Given the description of an element on the screen output the (x, y) to click on. 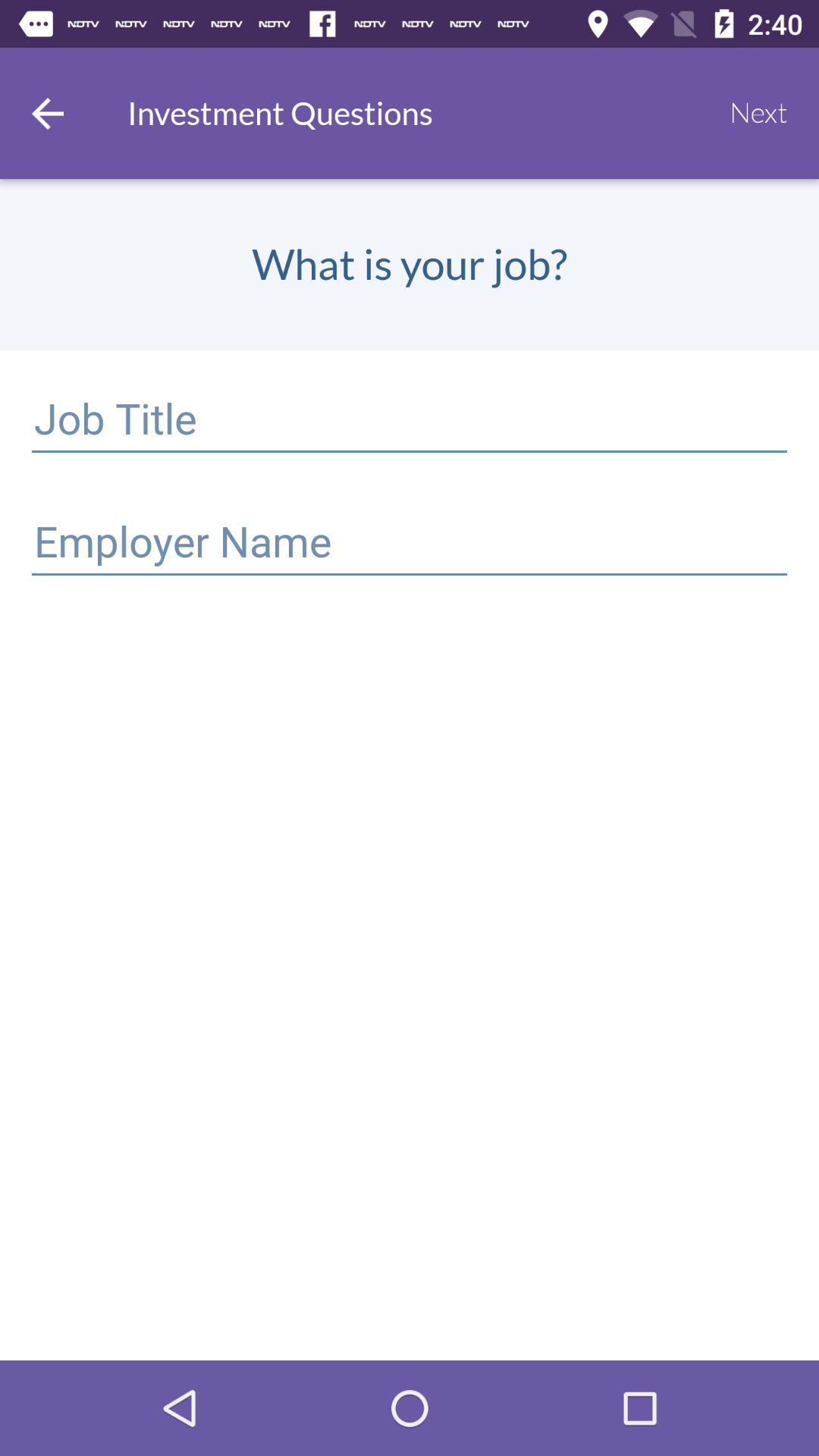
go back (47, 113)
